Given the description of an element on the screen output the (x, y) to click on. 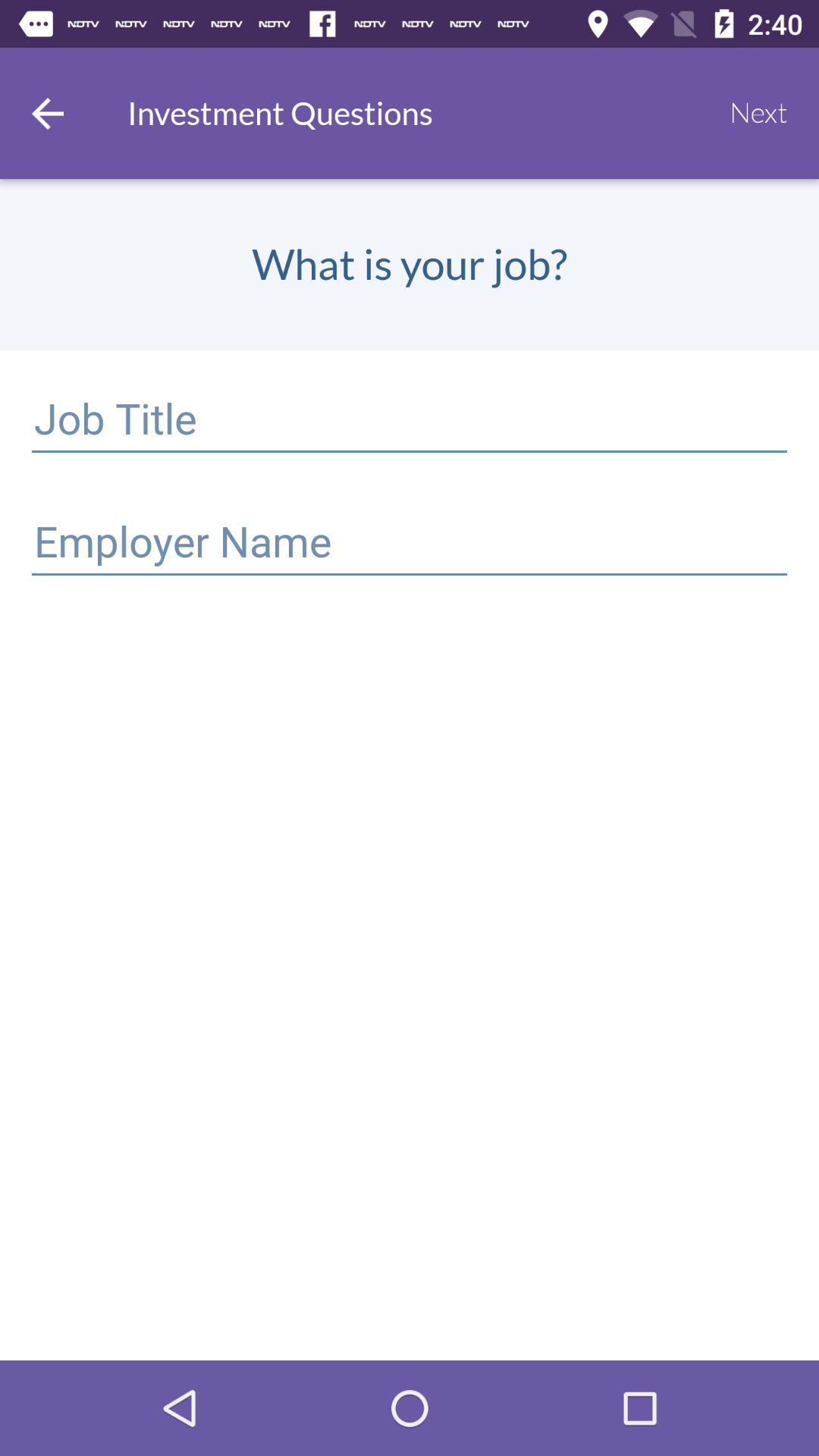
go back (47, 113)
